Given the description of an element on the screen output the (x, y) to click on. 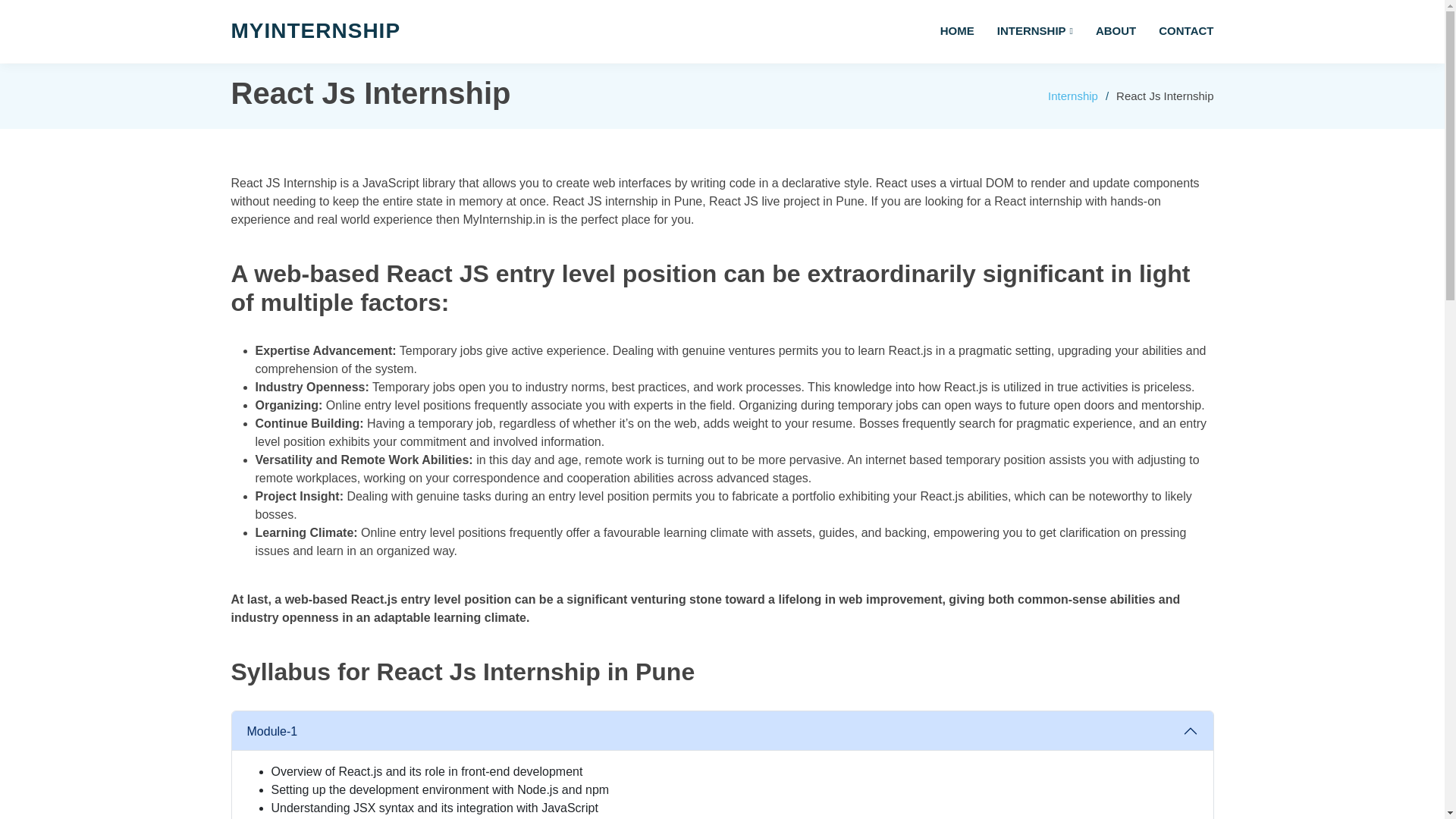
MYINTERNSHIP (315, 30)
ABOUT (1104, 31)
HOME (945, 31)
HOME (945, 31)
INTERNSHIP (1023, 31)
CONTACT (1173, 31)
